Given the description of an element on the screen output the (x, y) to click on. 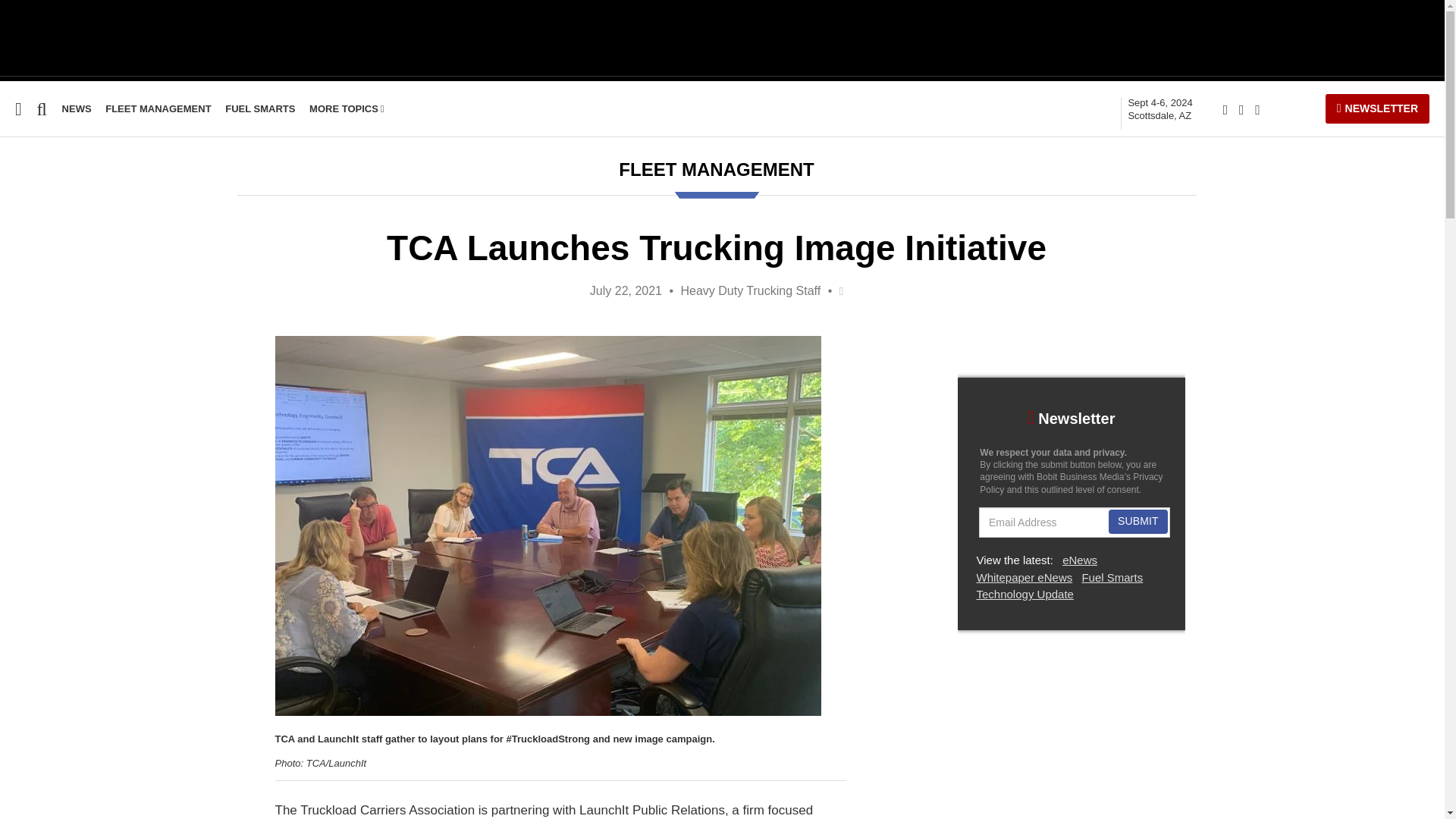
Fuel Smarts (34, 323)
Fuel Smarts (34, 323)
Home (16, 206)
Operations (32, 351)
Safety (17, 264)
News (76, 108)
FUEL SMARTS (260, 108)
MORE TOPICS (1159, 109)
Fleet Management (346, 108)
